Given the description of an element on the screen output the (x, y) to click on. 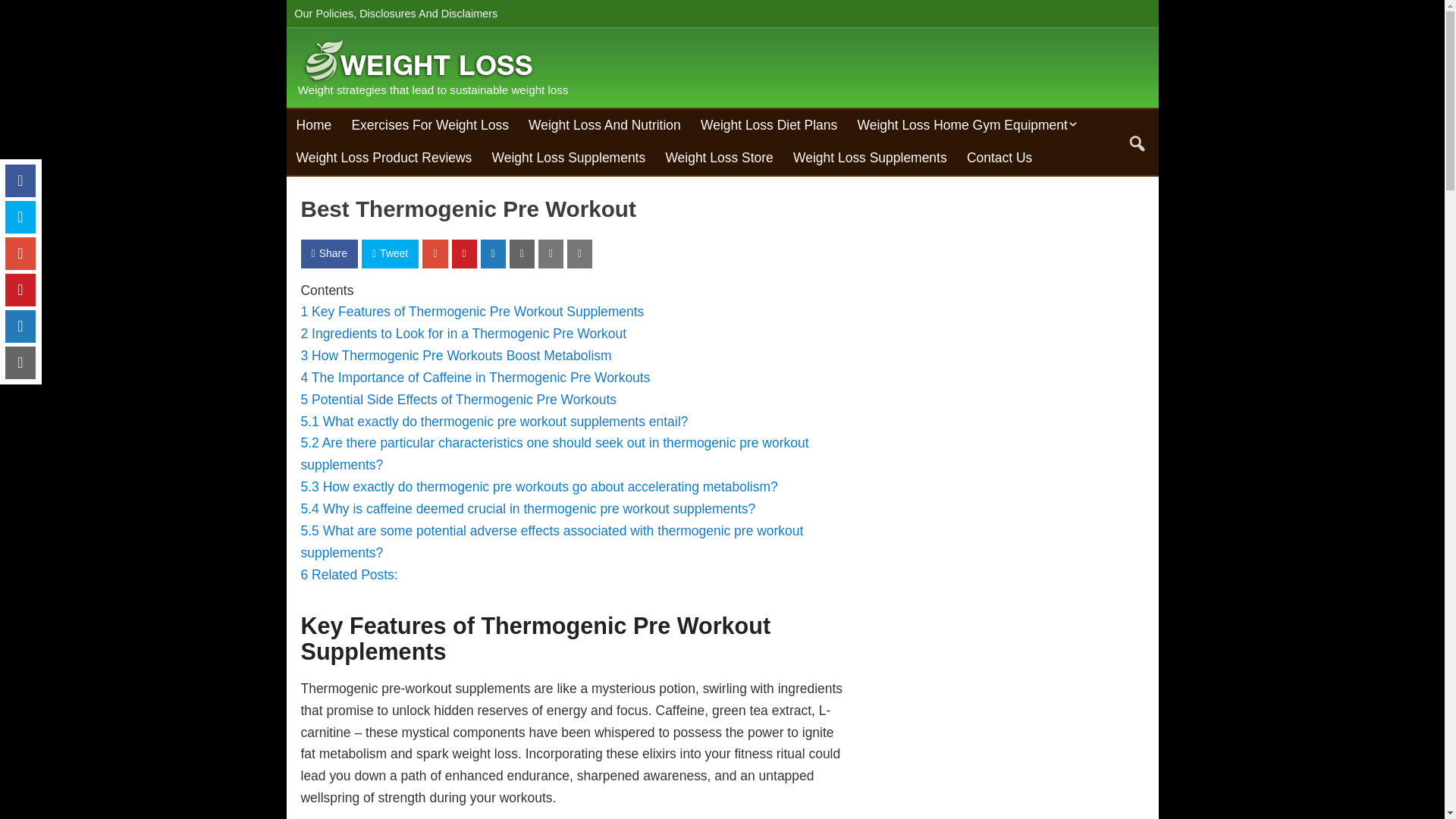
Pin On Pinterest (464, 253)
Share On Facebook (19, 180)
Share On Facebook (327, 253)
Send email this article (521, 253)
Weight Loss Supplements (869, 158)
Share On Google Plus (434, 253)
Weight Loss Product Reviews (383, 158)
Share (327, 253)
Our Policies, Disclosures And Disclaimers (396, 13)
Tweet on Twitter (390, 253)
